Given the description of an element on the screen output the (x, y) to click on. 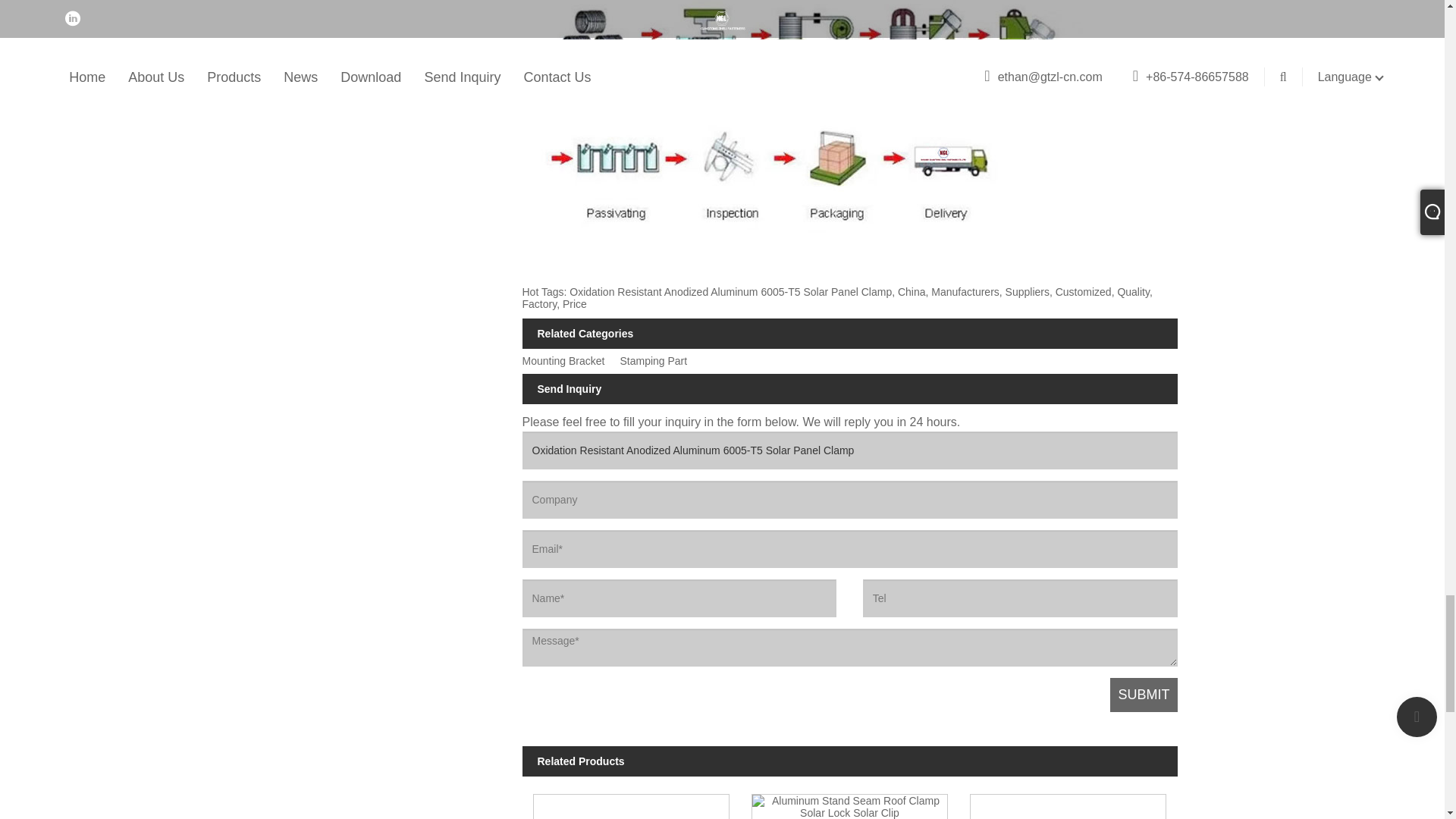
SUBMIT (1142, 695)
